Given the description of an element on the screen output the (x, y) to click on. 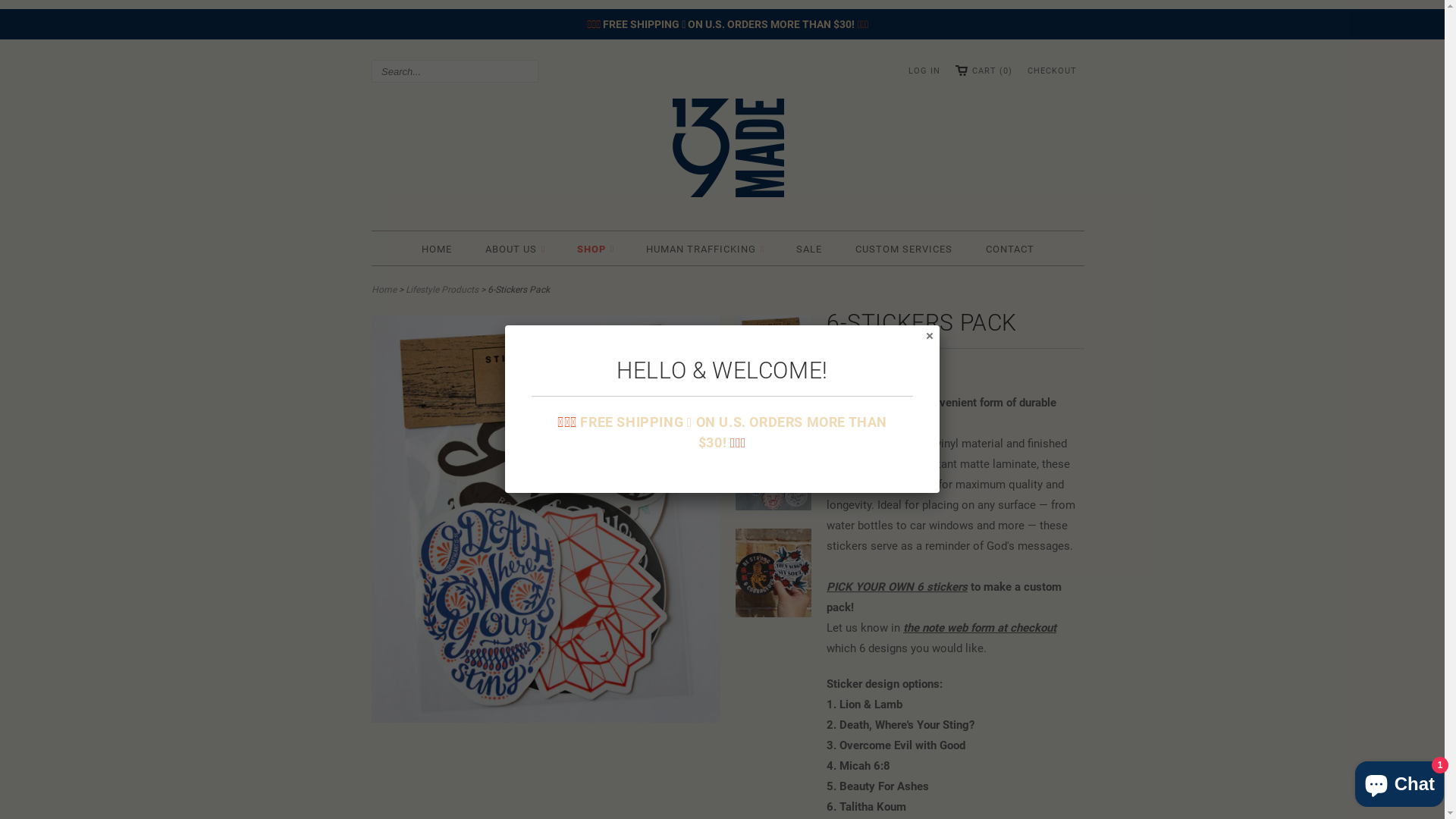
CUSTOM SERVICES Element type: text (903, 249)
CHECKOUT Element type: text (1051, 70)
6-Stickers Pack Element type: hover (773, 576)
Shopify online store chat Element type: hover (1399, 780)
CART (0) Element type: text (983, 70)
6-Stickers Pack Element type: hover (773, 469)
6-Stickers Pack Element type: hover (545, 718)
Home Element type: text (383, 289)
LOG IN Element type: text (924, 70)
139Made, LLC Element type: hover (727, 150)
Lifestyle Products Element type: text (441, 289)
Close Element type: hover (928, 334)
SALE Element type: text (809, 249)
CONTACT Element type: text (1009, 249)
HOME Element type: text (436, 249)
6-Stickers Pack Element type: hover (773, 363)
